Given the description of an element on the screen output the (x, y) to click on. 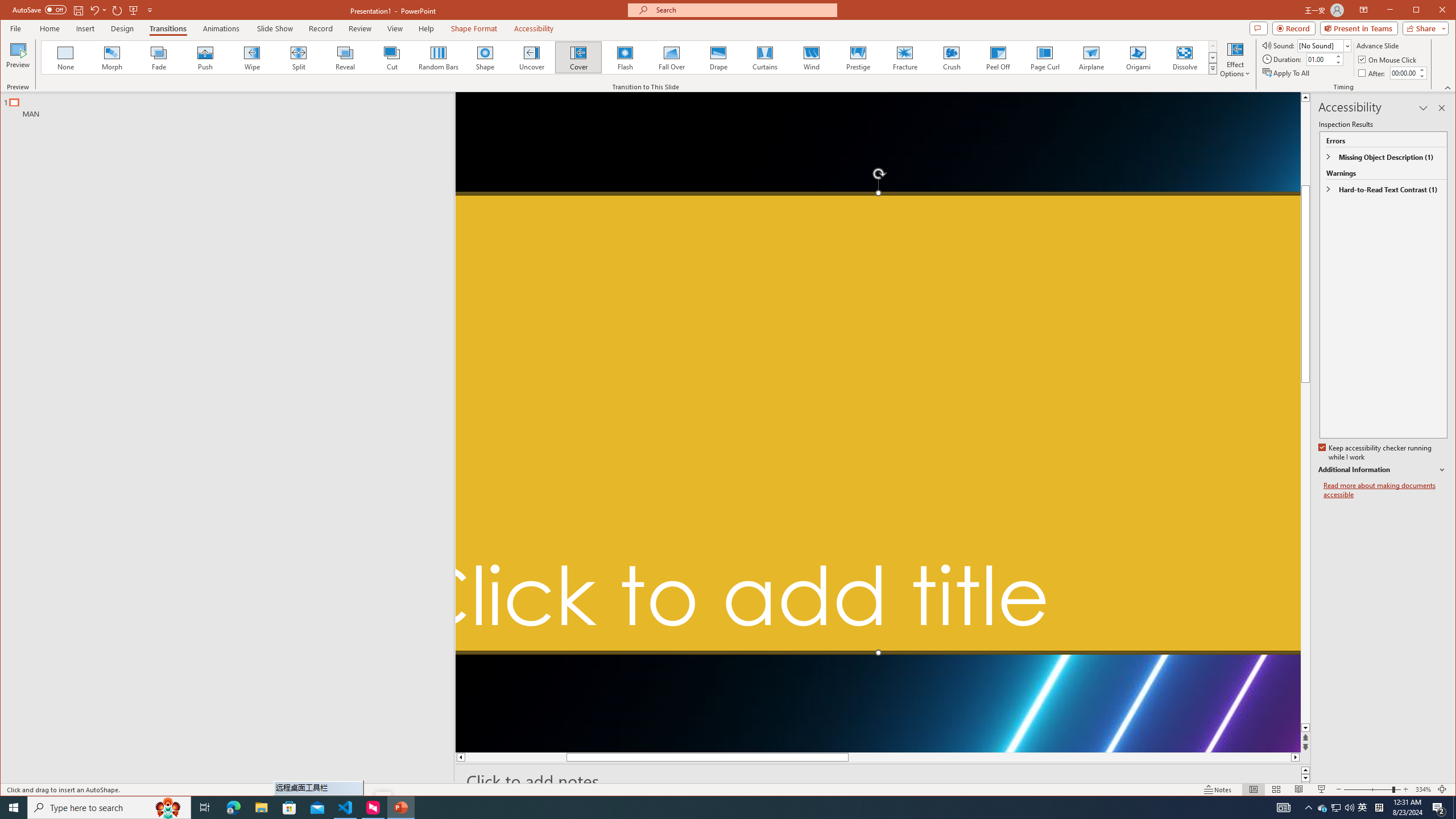
AutomationID: AnimationTransitionGallery (629, 57)
Keep accessibility checker running while I work (1375, 452)
